Given the description of an element on the screen output the (x, y) to click on. 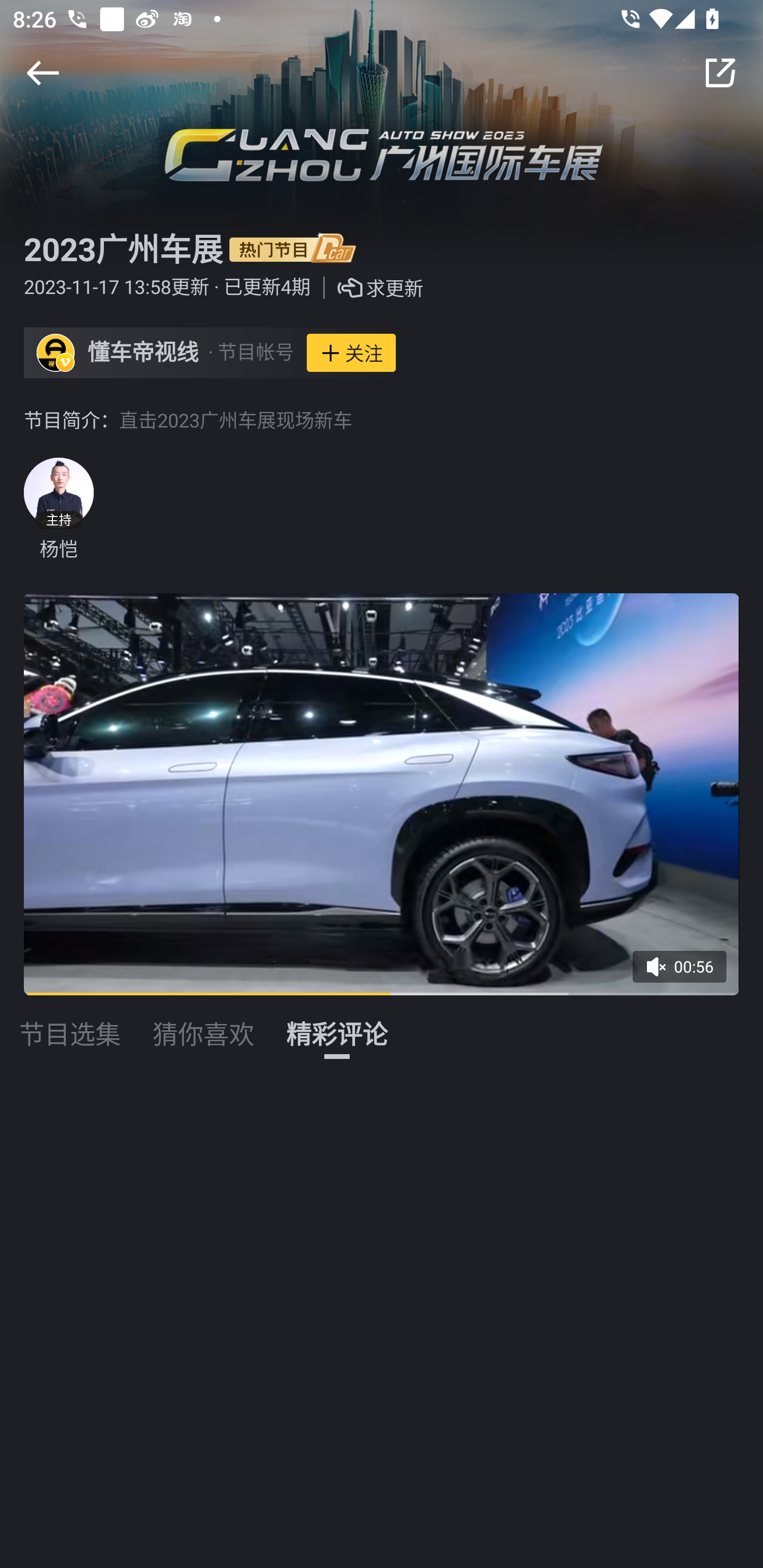
 (42, 72)
 (720, 72)
 求更新 (366, 287)
懂车帝视线 (142, 352)
· 节目帐号 (250, 352)
 关注 (350, 352)
主持 杨恺 (58, 509)
00:56 (685, 972)
节目选集 (69, 1022)
猜你喜欢 (203, 1022)
精彩评论 (336, 1022)
